Given the description of an element on the screen output the (x, y) to click on. 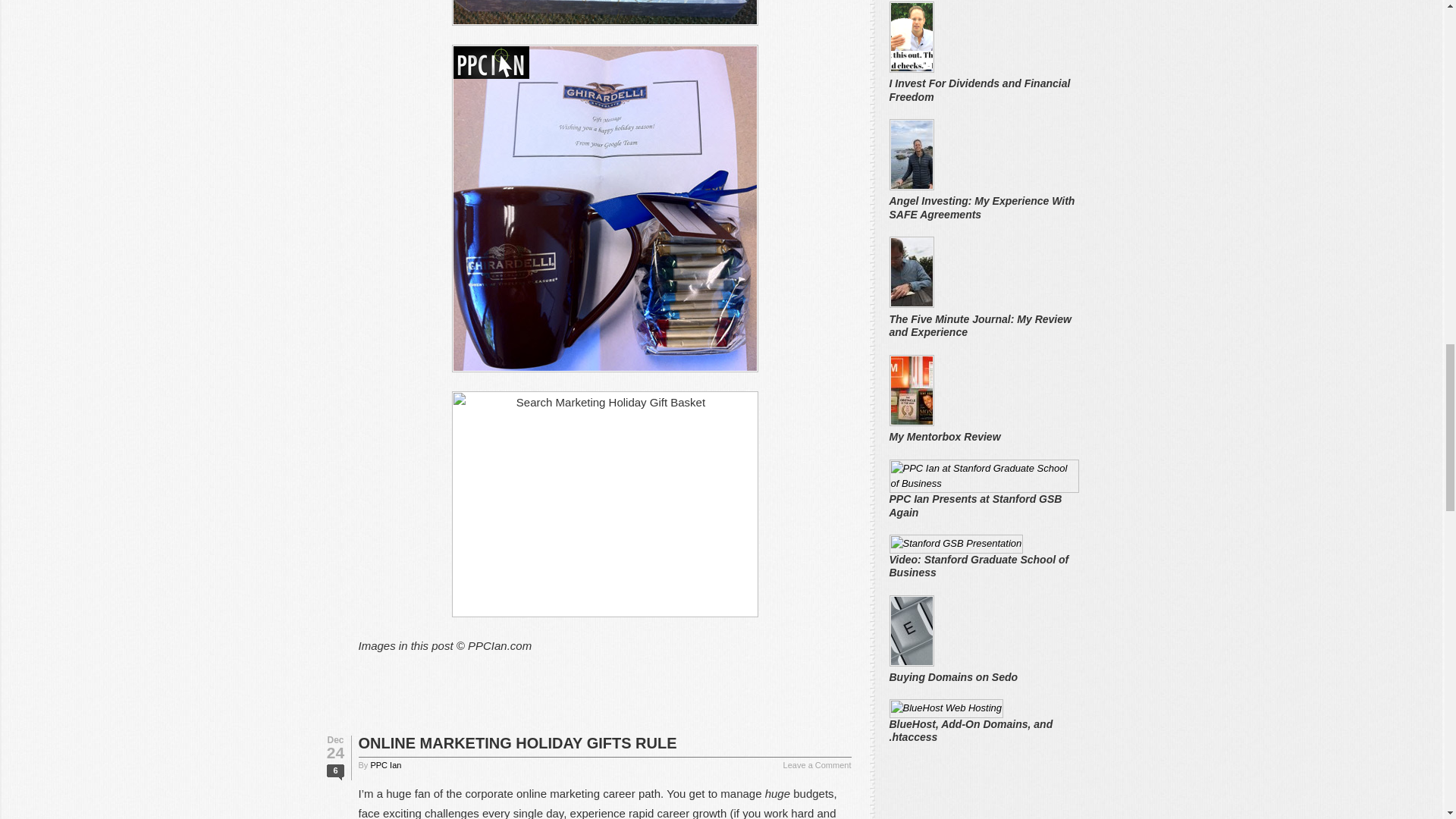
6 (334, 772)
Leave a Comment (817, 765)
PPC Ian (385, 764)
ONLINE MARKETING HOLIDAY GIFTS RULE (517, 742)
